Given the description of an element on the screen output the (x, y) to click on. 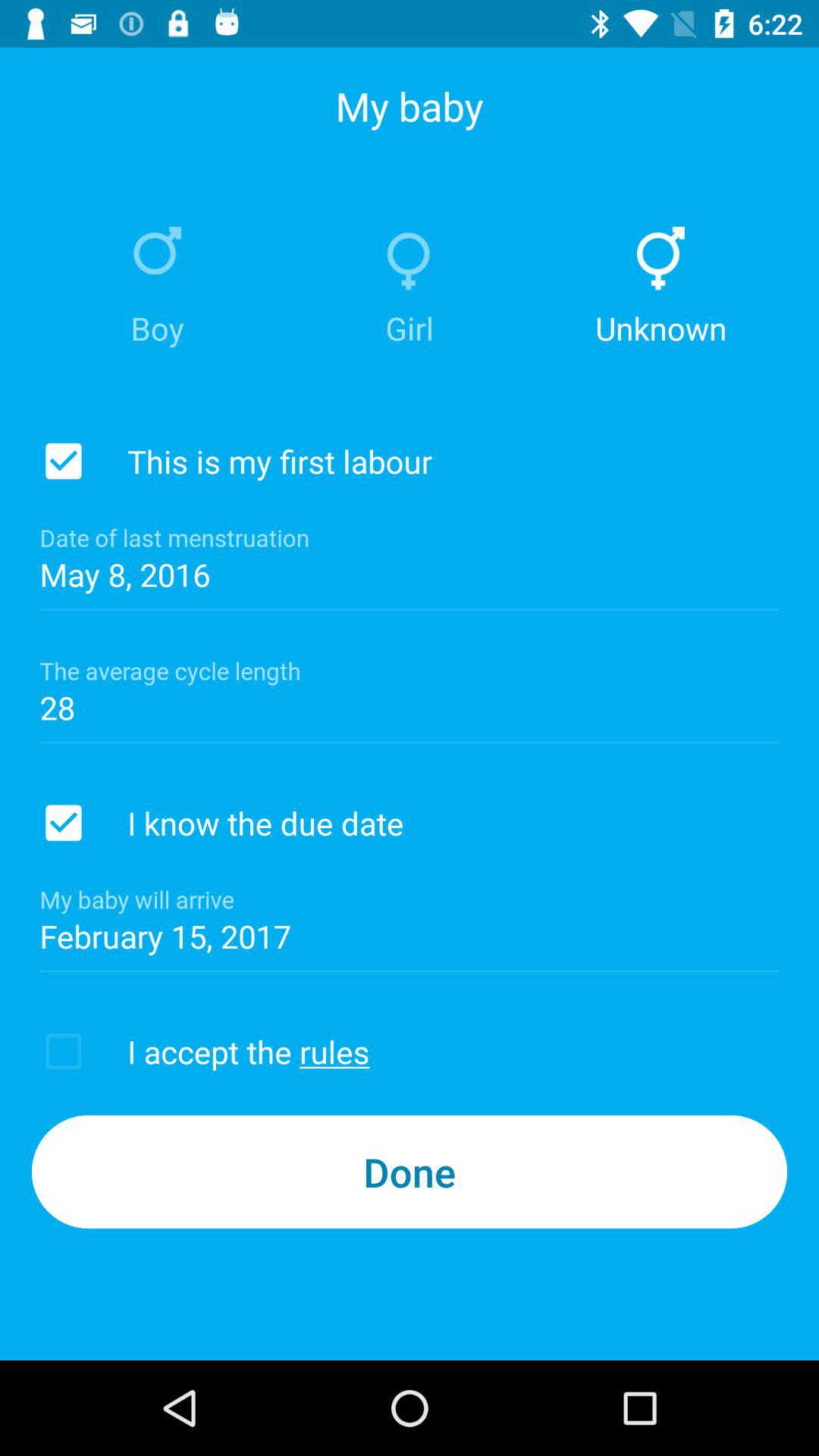
toggle due date (63, 822)
